Given the description of an element on the screen output the (x, y) to click on. 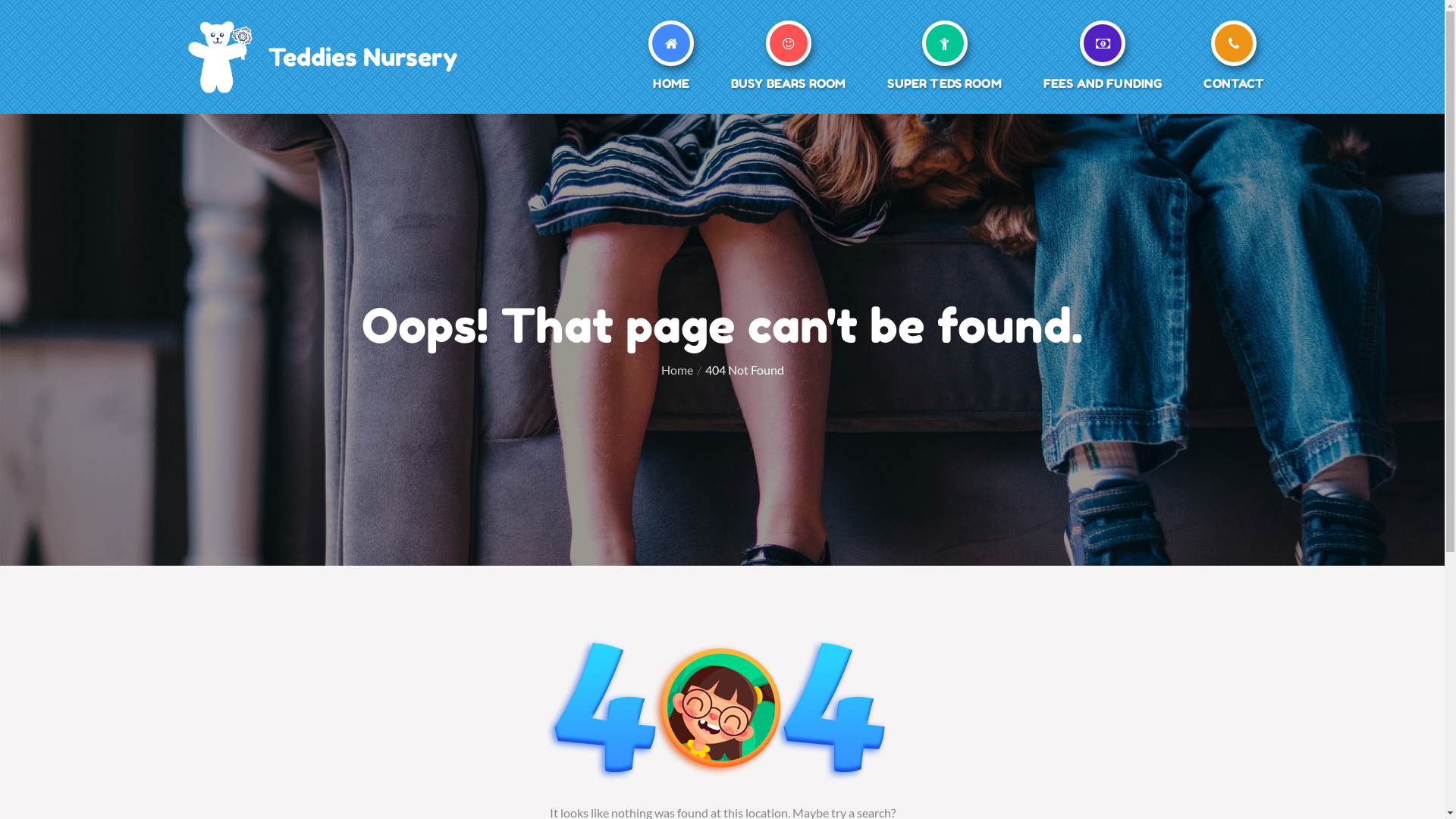
CONTACT Element type: text (1233, 60)
HOME Element type: text (670, 60)
SUPER TEDS ROOM Element type: text (943, 60)
Home Element type: text (677, 370)
Teddies Nursery Element type: text (362, 57)
BUSY BEARS ROOM Element type: text (787, 60)
FEES AND FUNDING Element type: text (1102, 60)
